Given the description of an element on the screen output the (x, y) to click on. 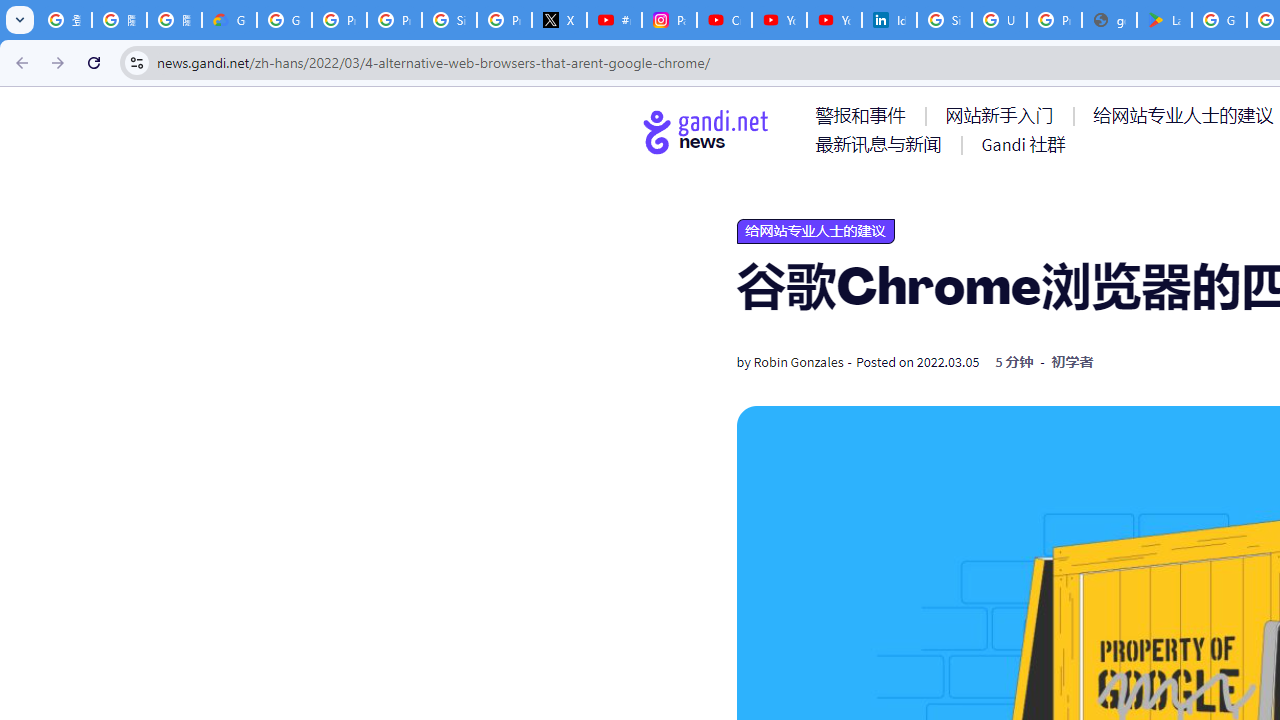
AutomationID: menu-item-77767 (1022, 143)
X (559, 20)
Identity verification via Persona | LinkedIn Help (888, 20)
Sign in - Google Accounts (943, 20)
Sign in - Google Accounts (449, 20)
Last Shelter: Survival - Apps on Google Play (1163, 20)
AutomationID: menu-item-77766 (882, 143)
